Given the description of an element on the screen output the (x, y) to click on. 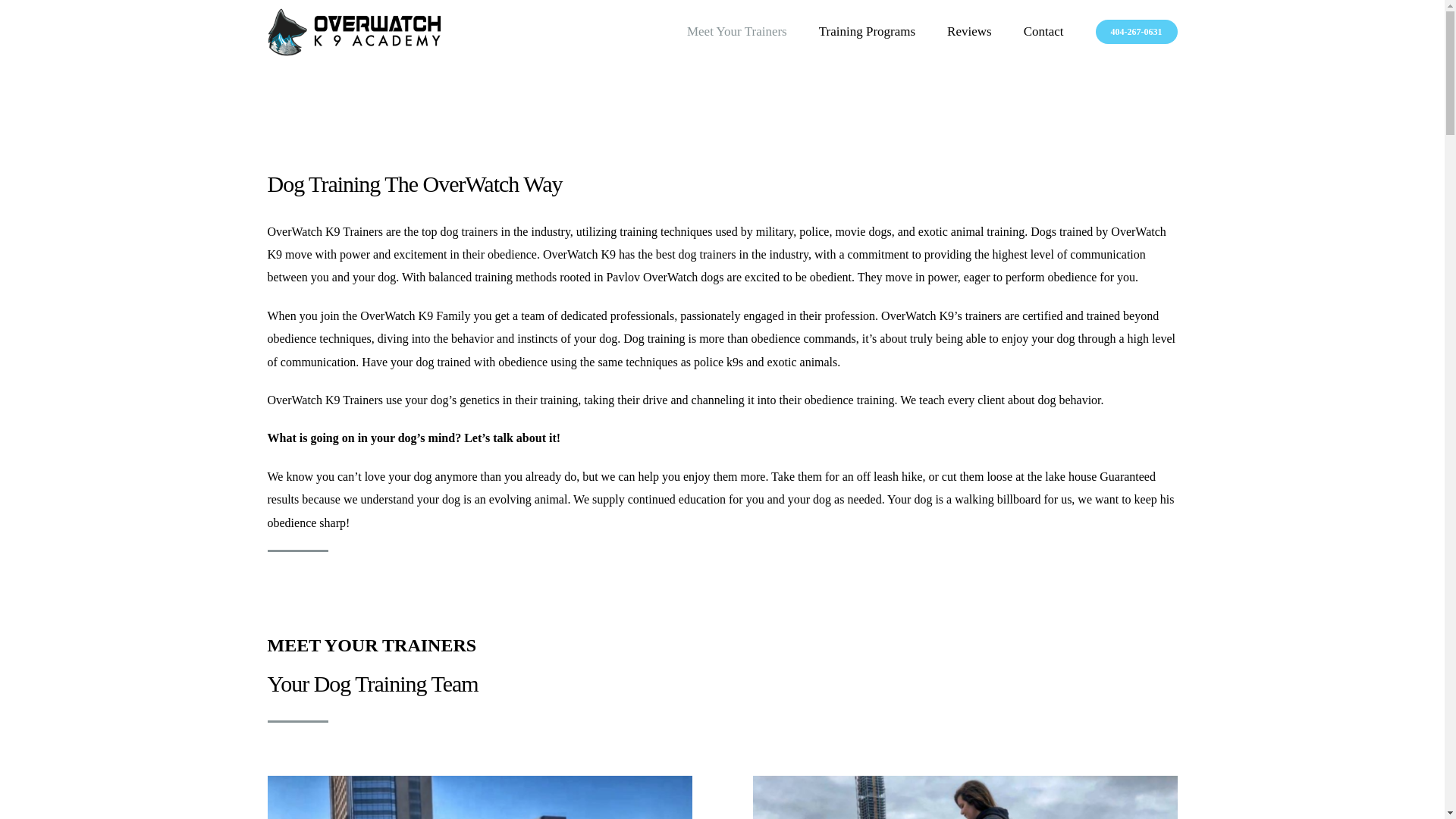
Meet Your Trainers (737, 31)
Reviews (969, 31)
Training Programs (866, 31)
Contact (1043, 31)
404-267-0631 (1136, 31)
